Given the description of an element on the screen output the (x, y) to click on. 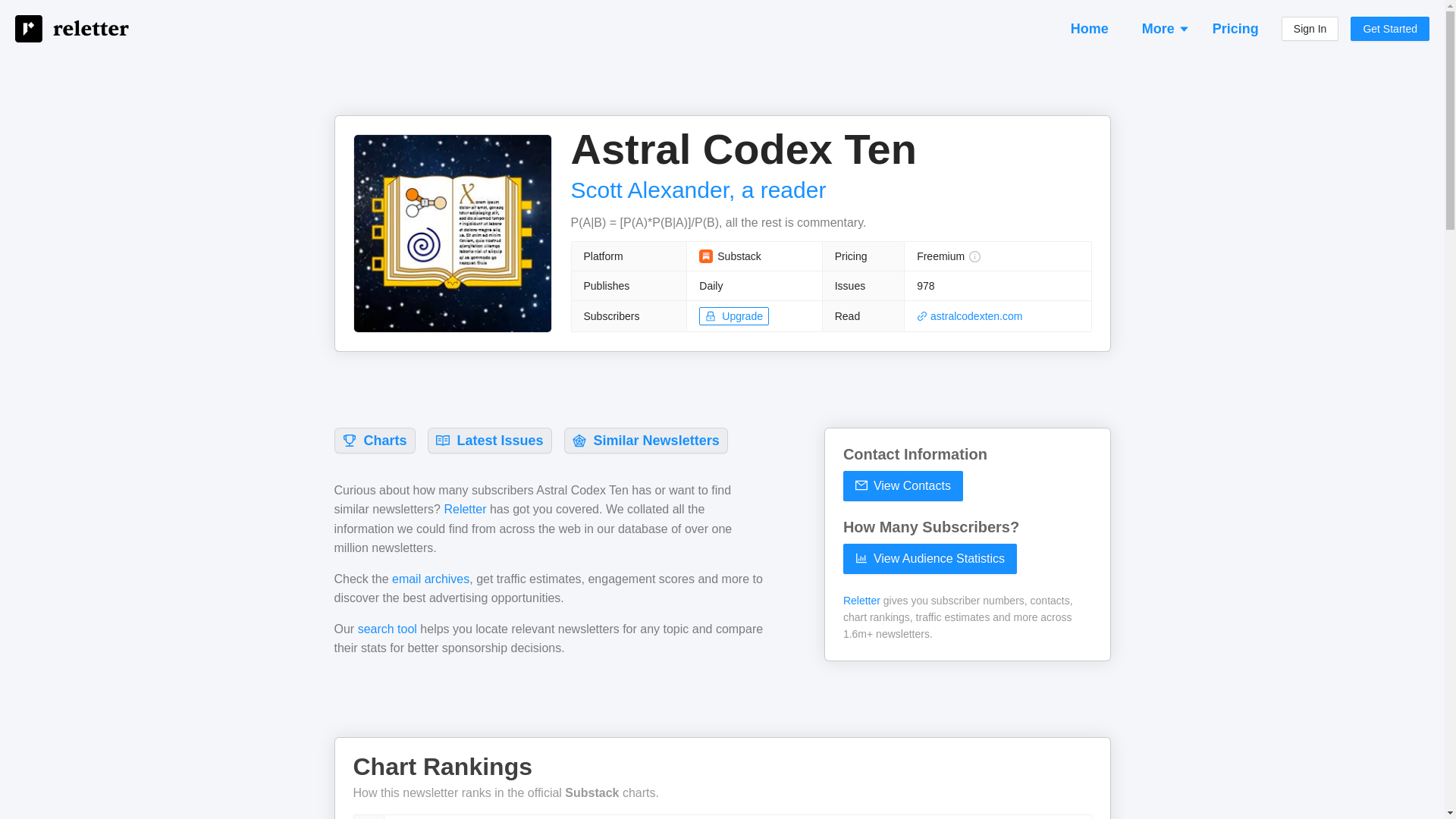
Upgrade (733, 316)
 Charts (373, 440)
 Similar Newsletters (645, 440)
 Latest Issues (489, 440)
View Audience Statistics (929, 558)
Reletter (465, 508)
View Contacts (902, 485)
search tool (387, 628)
Sign In (1310, 28)
Home (1089, 28)
Pricing (1235, 28)
astralcodexten.com (969, 316)
Reletter (861, 600)
email archives (429, 578)
Get Started (1390, 28)
